Given the description of an element on the screen output the (x, y) to click on. 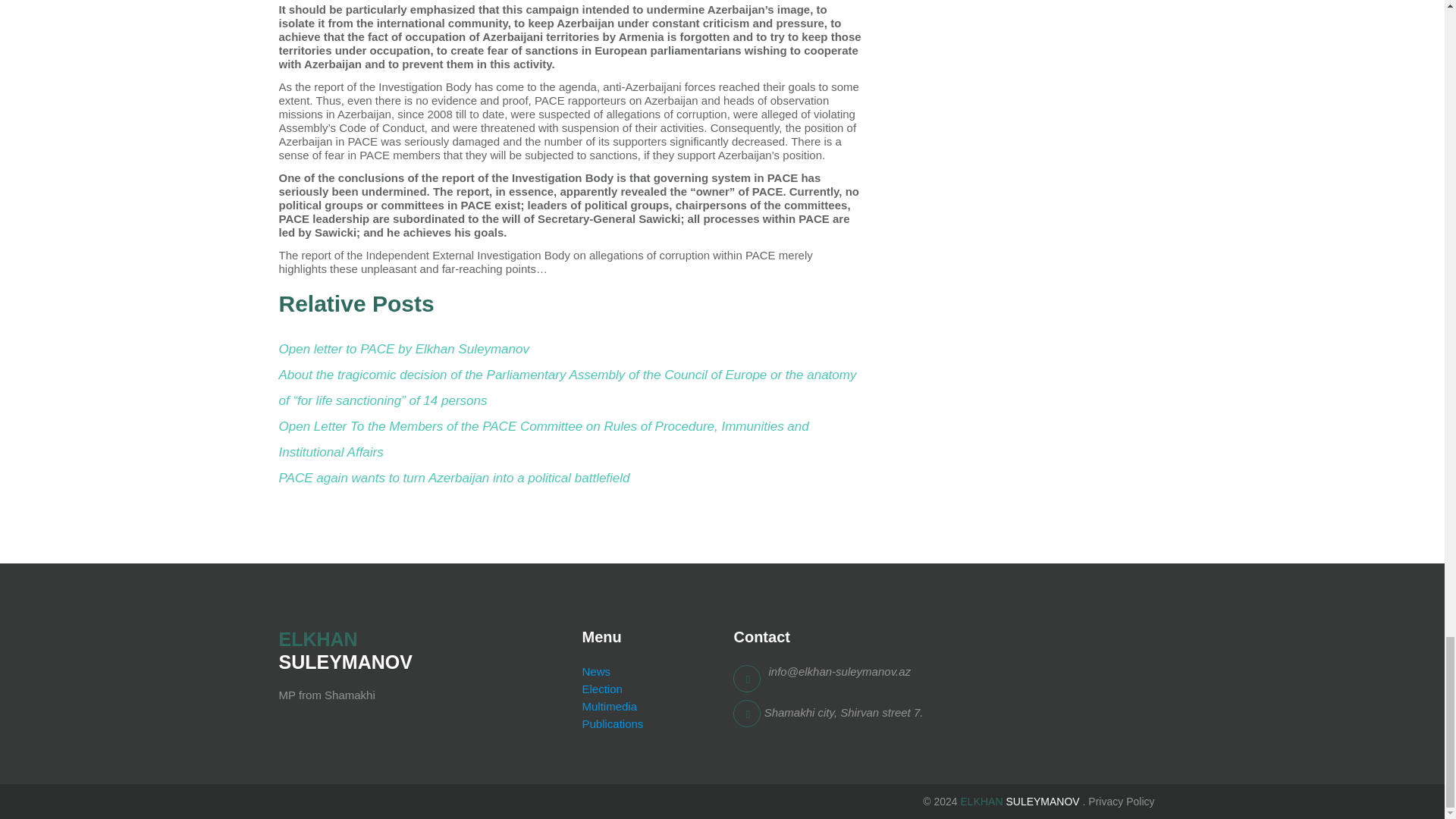
News (595, 671)
Open letter to PACE by Elkhan Suleymanov (404, 349)
Election (600, 688)
